Given the description of an element on the screen output the (x, y) to click on. 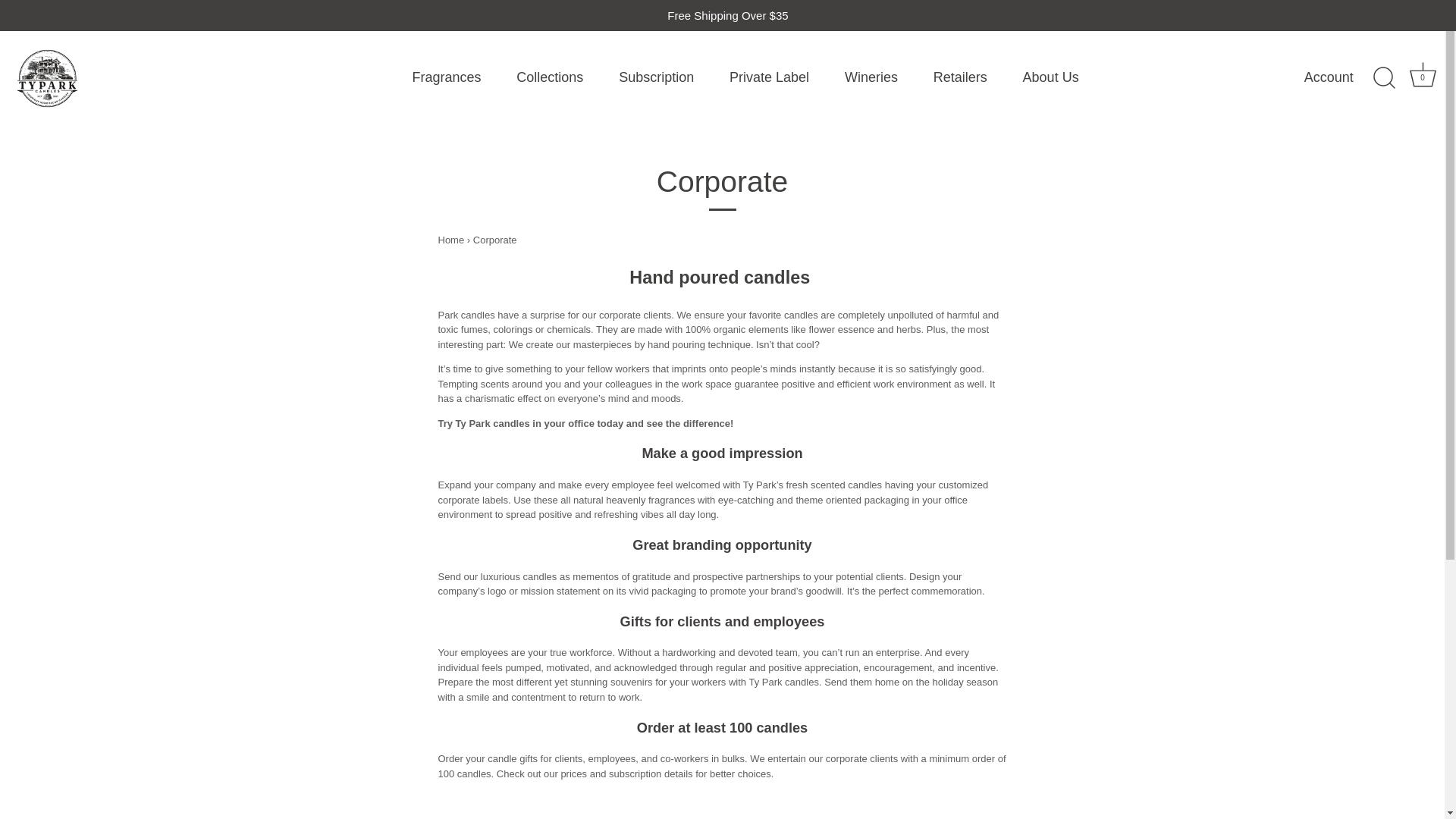
About Us (1050, 77)
Collections (549, 77)
Home (451, 239)
Fragrances (446, 77)
Private Label (769, 77)
Cart (1422, 74)
Subscription  (656, 77)
Fragrances (446, 77)
Retailers (960, 77)
Wineries (871, 77)
